Given the description of an element on the screen output the (x, y) to click on. 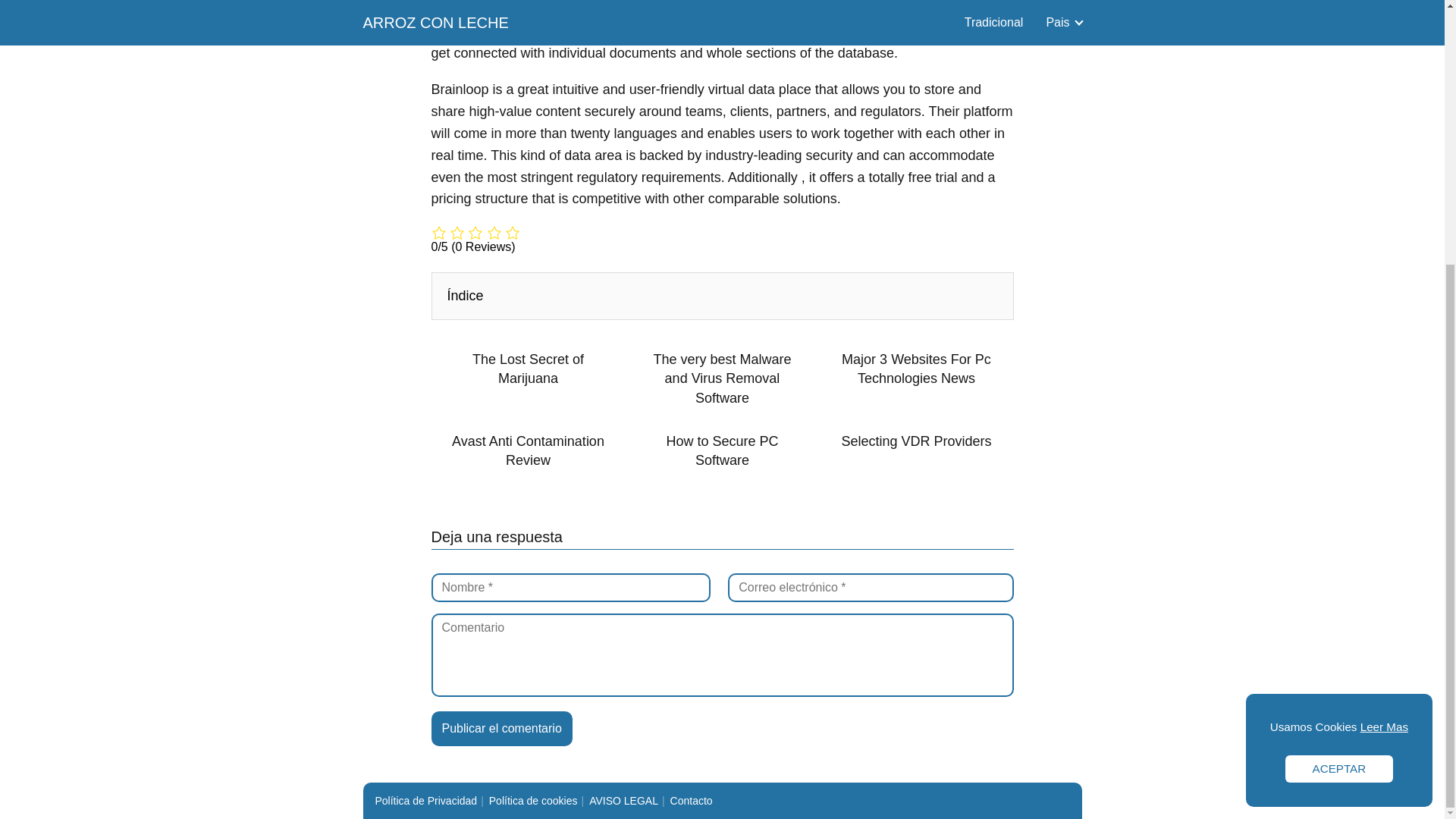
The very best Malware and Virus Removal Software (720, 378)
Major 3 Websites For Pc Technologies News (916, 369)
Selecting VDR Providers (916, 441)
AVISO LEGAL (623, 800)
Avast Anti Contamination Review (528, 451)
The Lost Secret of Marijuana (528, 369)
ACEPTAR (1339, 386)
How to Secure PC Software (720, 451)
Publicar el comentario (501, 728)
Contacto (691, 800)
